Given the description of an element on the screen output the (x, y) to click on. 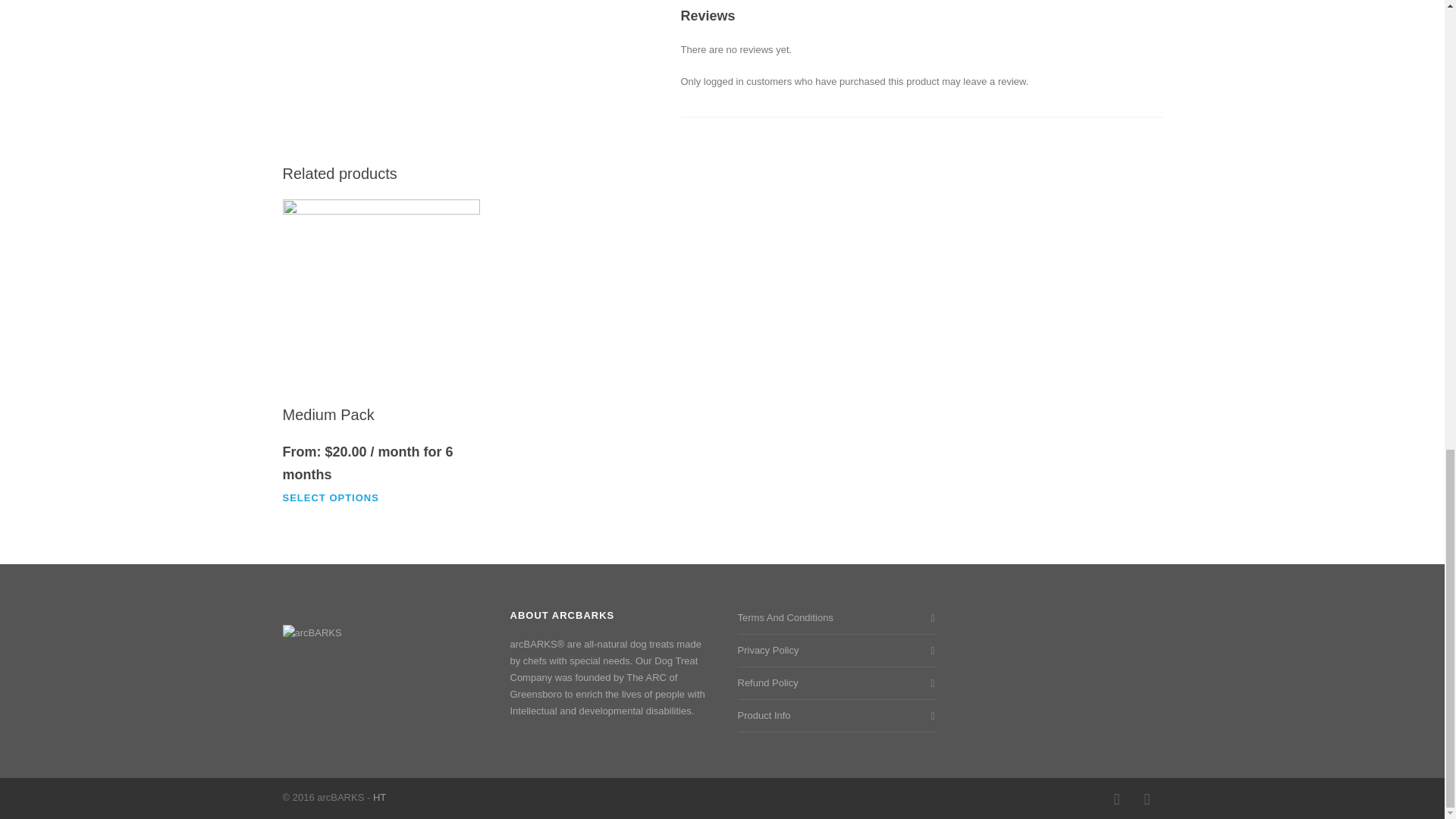
Facebook (1115, 798)
Instagram (1146, 798)
SELECT OPTIONS (337, 497)
